Given the description of an element on the screen output the (x, y) to click on. 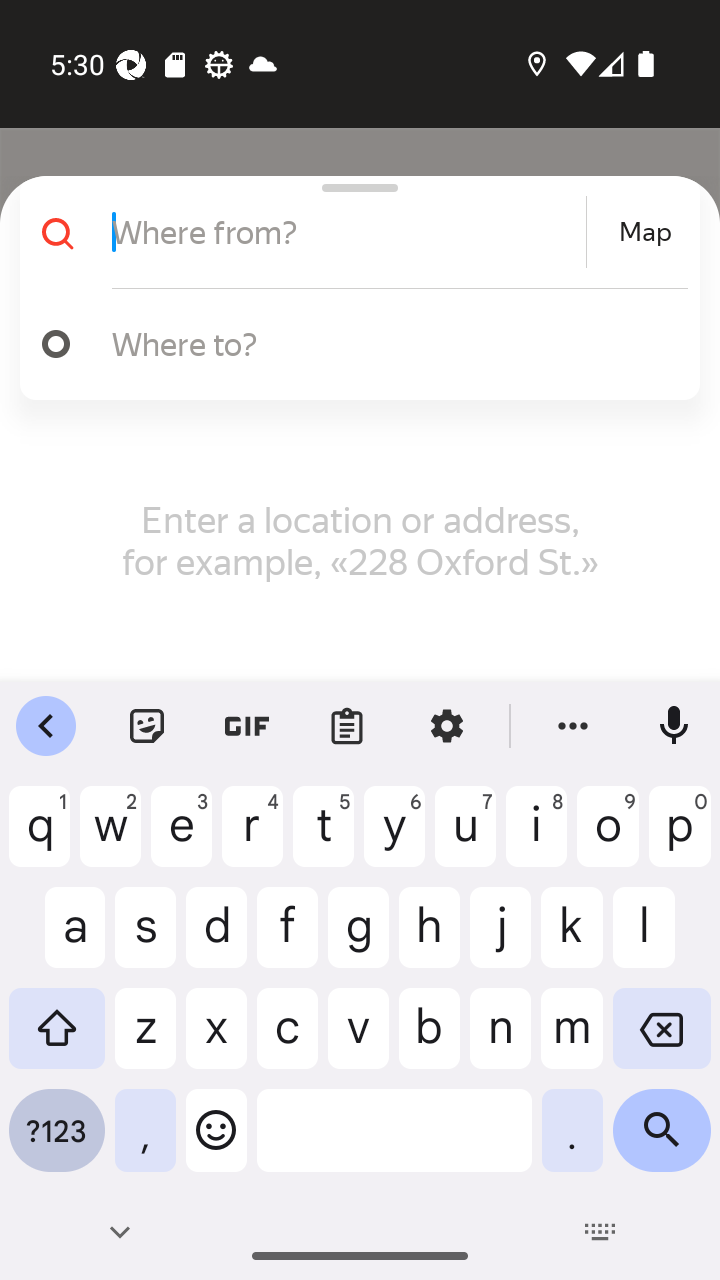
Where from? Map Map (352, 232)
Map (645, 232)
Where from? (346, 232)
Where to? (352, 343)
Where to? (390, 343)
